Given the description of an element on the screen output the (x, y) to click on. 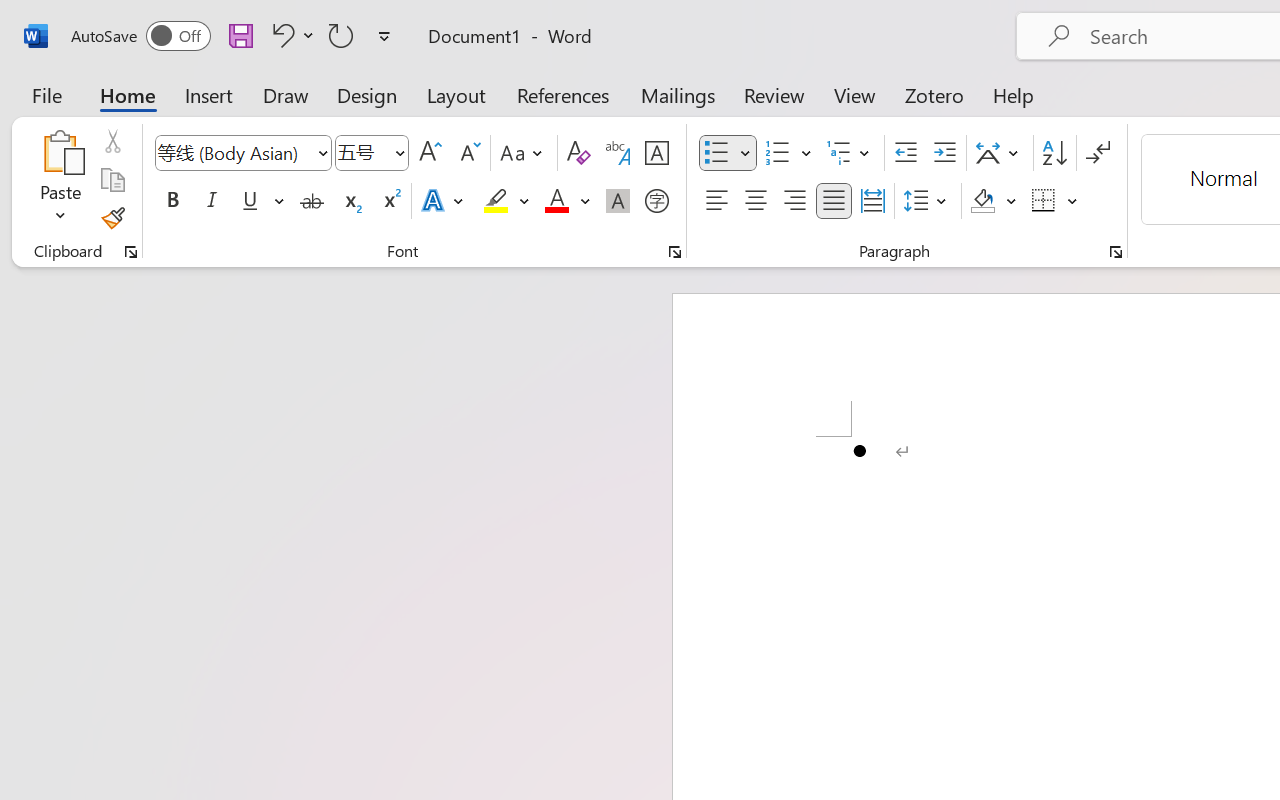
Undo Bullet Default (290, 35)
